Given the description of an element on the screen output the (x, y) to click on. 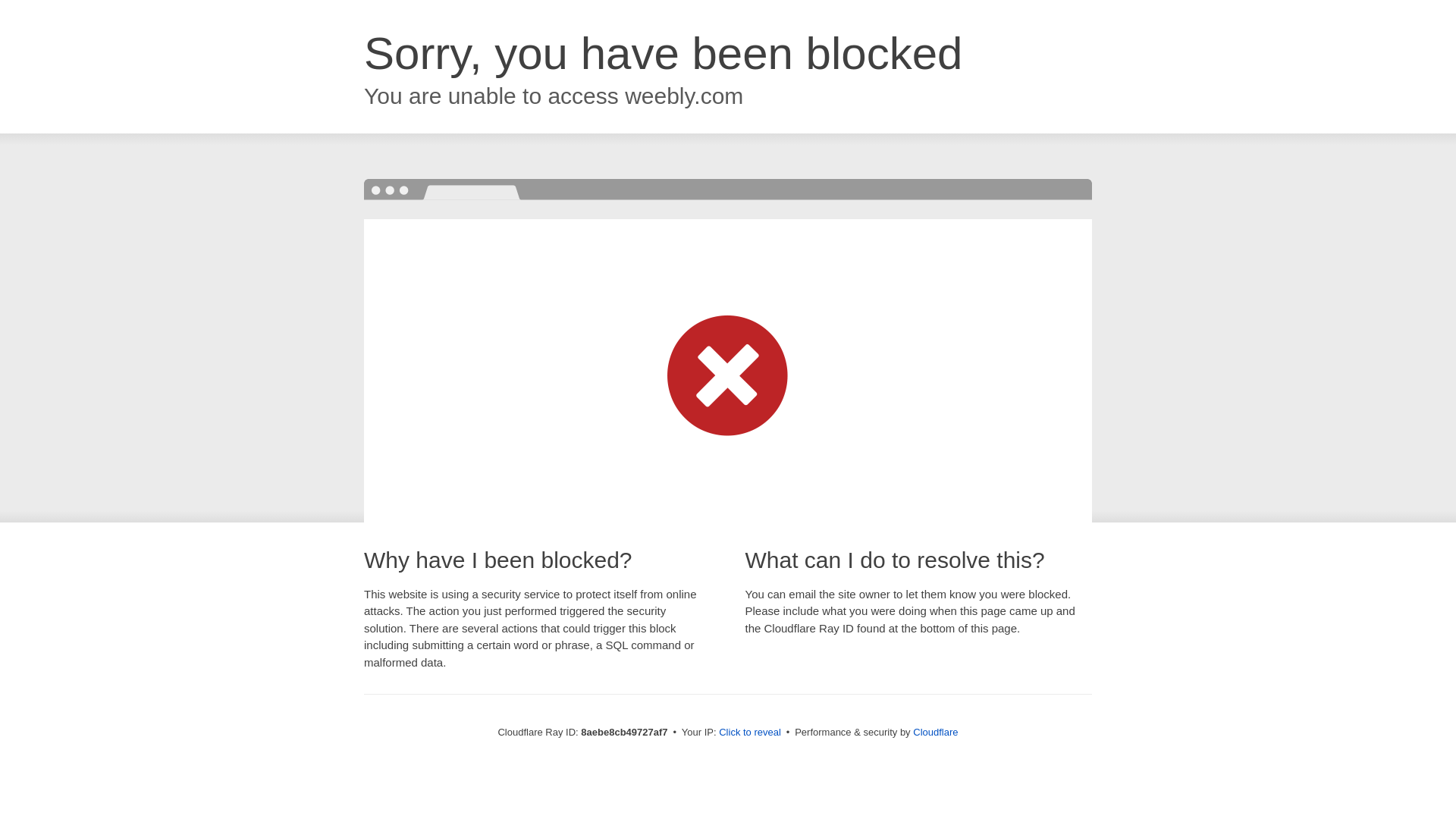
Cloudflare (935, 731)
Click to reveal (749, 732)
